Given the description of an element on the screen output the (x, y) to click on. 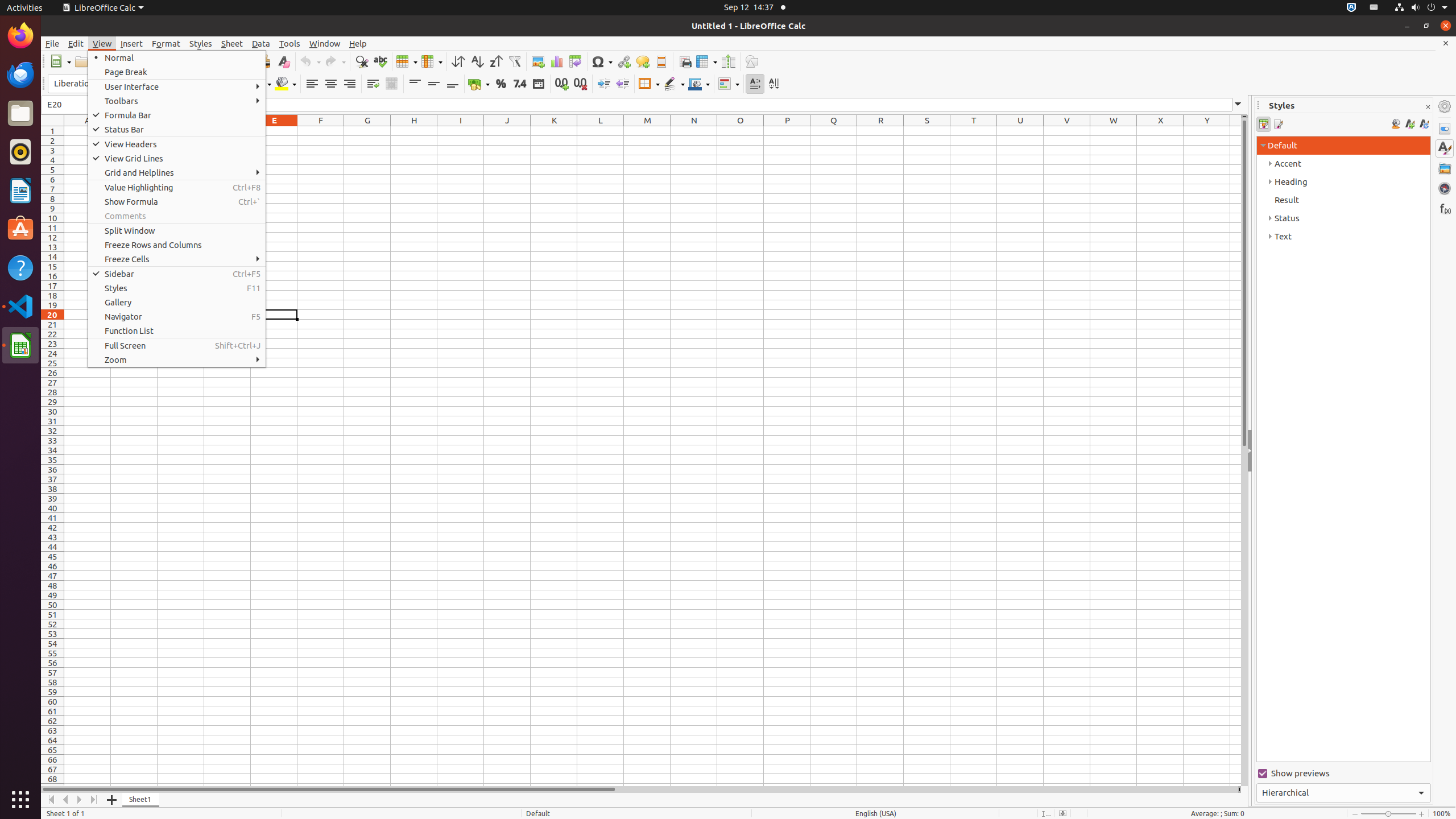
Files Element type: push-button (20, 113)
N1 Element type: table-cell (693, 130)
Column Element type: push-button (431, 61)
Visual Studio Code Element type: push-button (20, 306)
User Interface Element type: menu (176, 86)
